Given the description of an element on the screen output the (x, y) to click on. 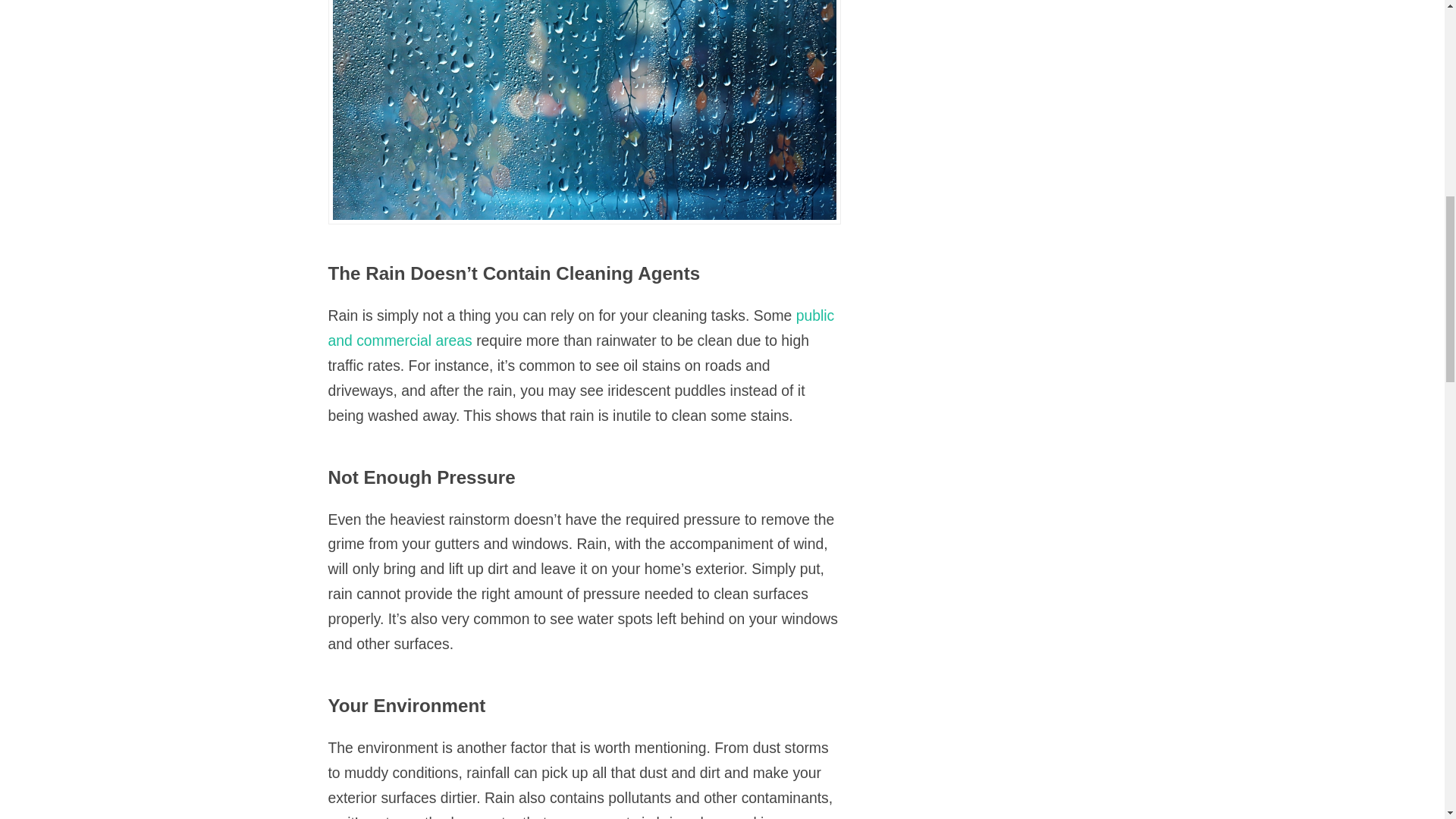
public and commercial areas (580, 327)
